Given the description of an element on the screen output the (x, y) to click on. 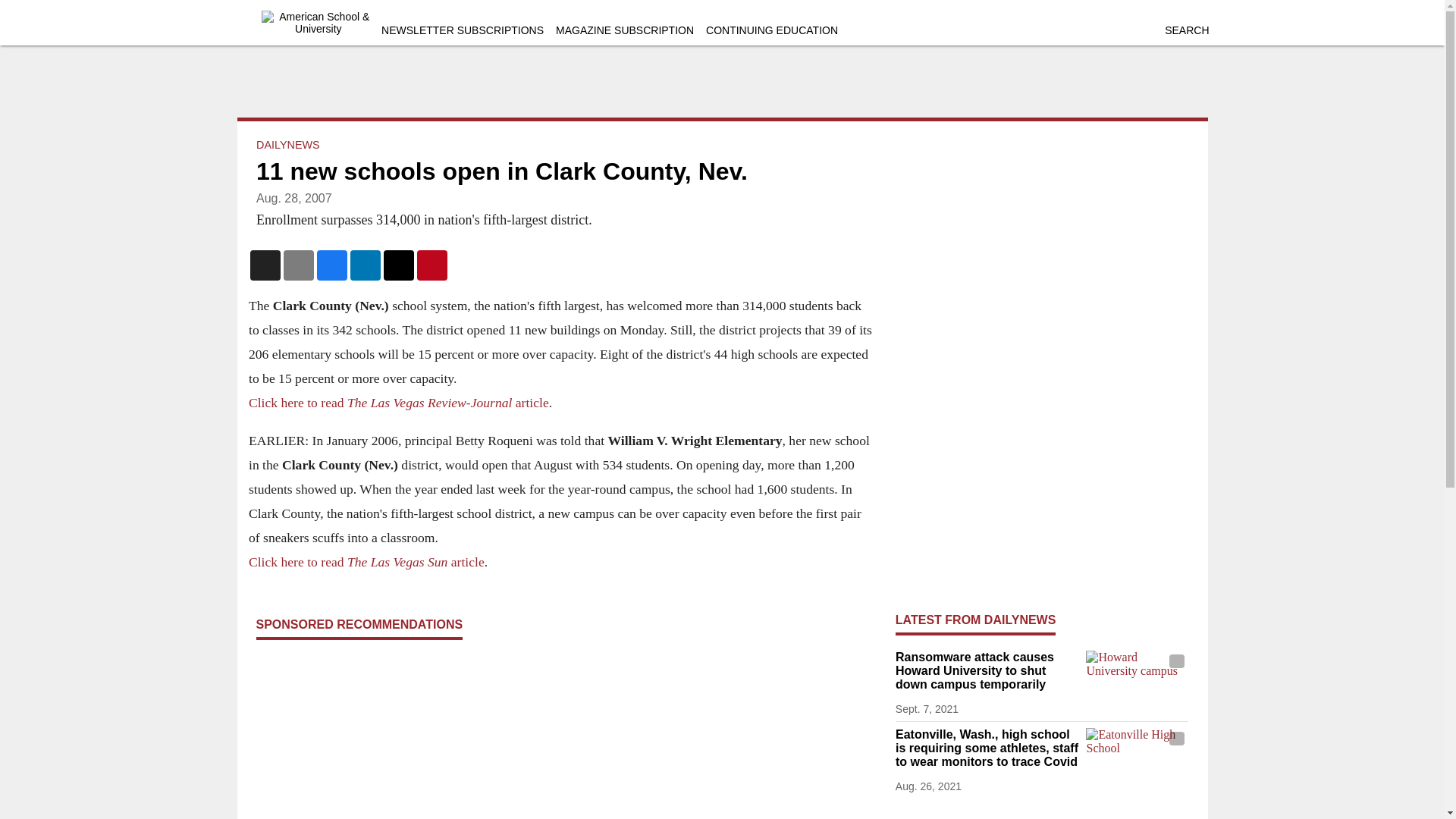
Eatonville High School (1137, 756)
DAILYNEWS (288, 144)
SEARCH (1186, 30)
Click here to read The Las Vegas Review-Journal article (398, 402)
MAGAZINE SUBSCRIPTION (625, 30)
NEWSLETTER SUBSCRIPTIONS (462, 30)
Click here to read The Las Vegas Sun article (366, 560)
Howard University campus (1137, 678)
CONTINUING EDUCATION (772, 30)
